Given the description of an element on the screen output the (x, y) to click on. 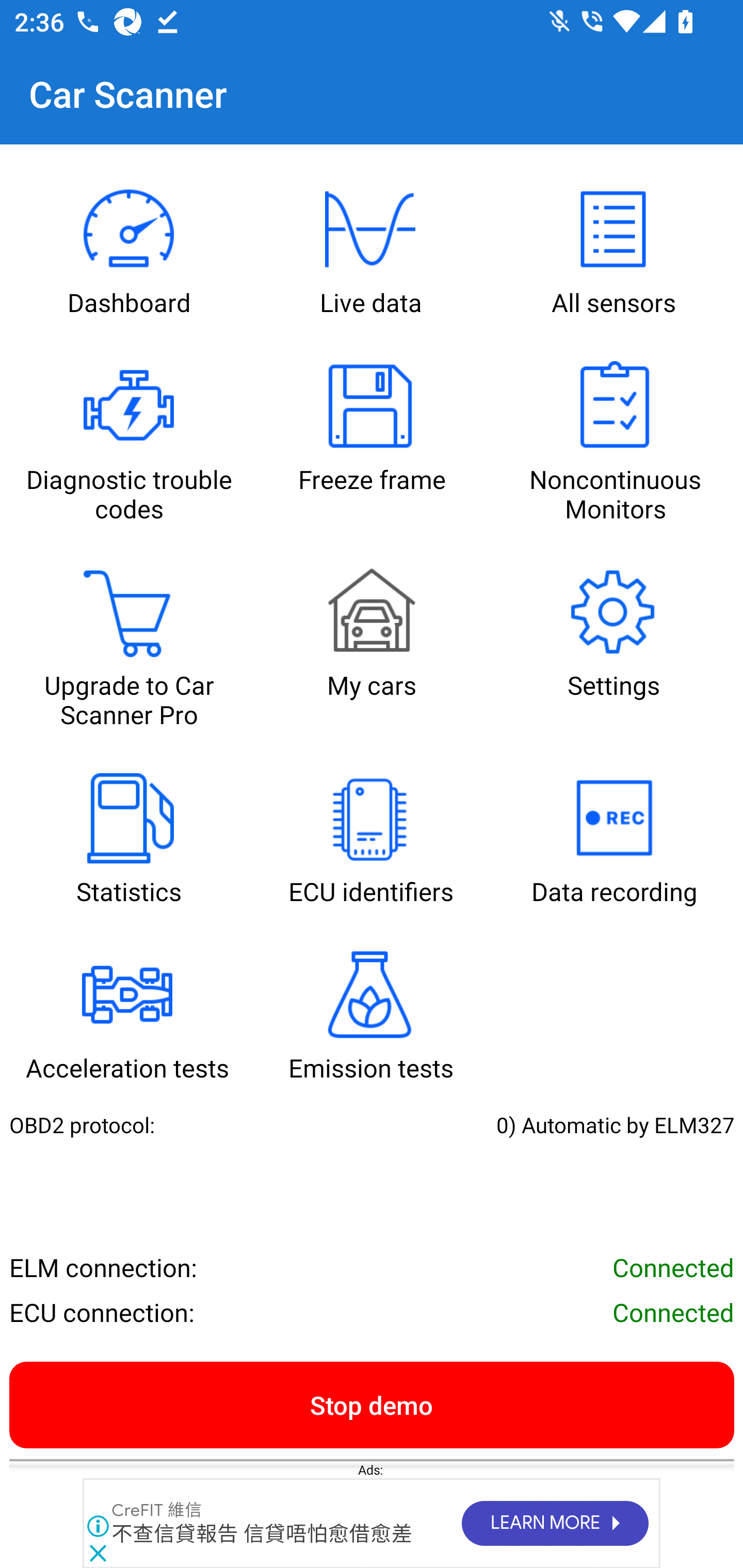
Stop demo (371, 1404)
CreFIT 維信 (157, 1511)
LEARN MORE (554, 1523)
不查信貸報告 信貸唔怕愈借愈差 (262, 1534)
